Given the description of an element on the screen output the (x, y) to click on. 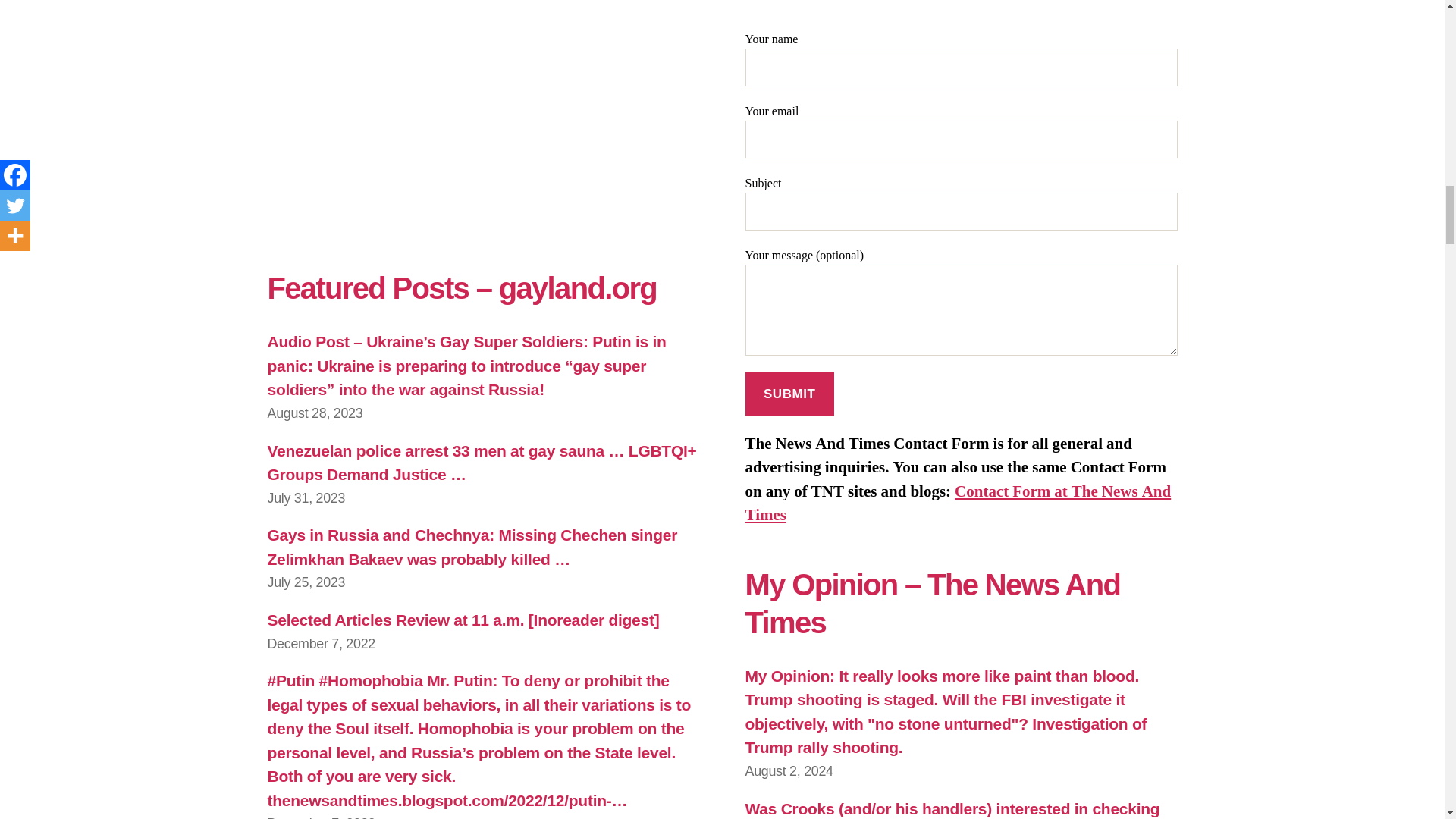
YouTube video player (478, 115)
Submit (789, 393)
